Given the description of an element on the screen output the (x, y) to click on. 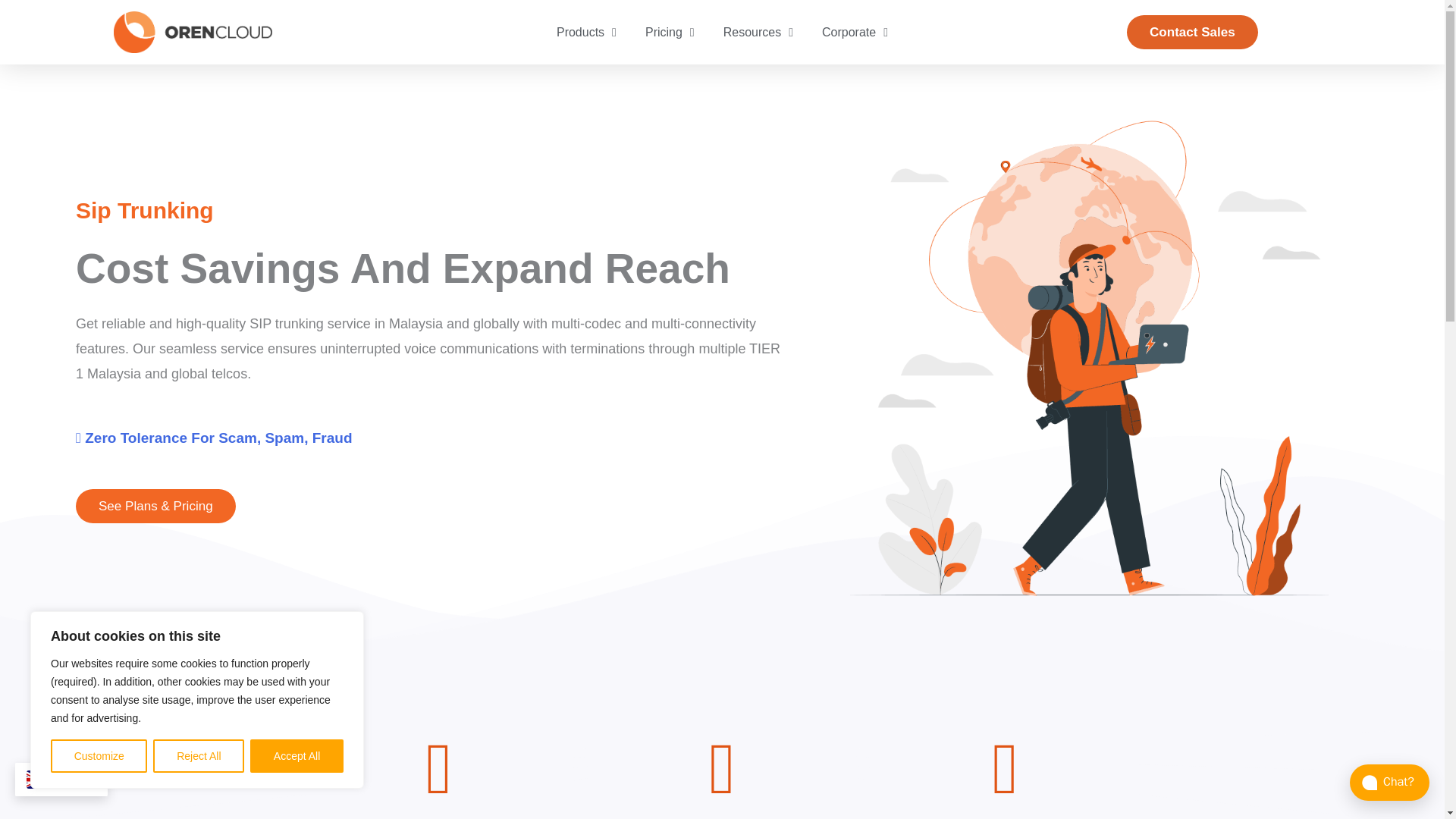
Accept All (296, 756)
Reject All (198, 756)
Customize (98, 756)
Open chat window (1389, 782)
